Given the description of an element on the screen output the (x, y) to click on. 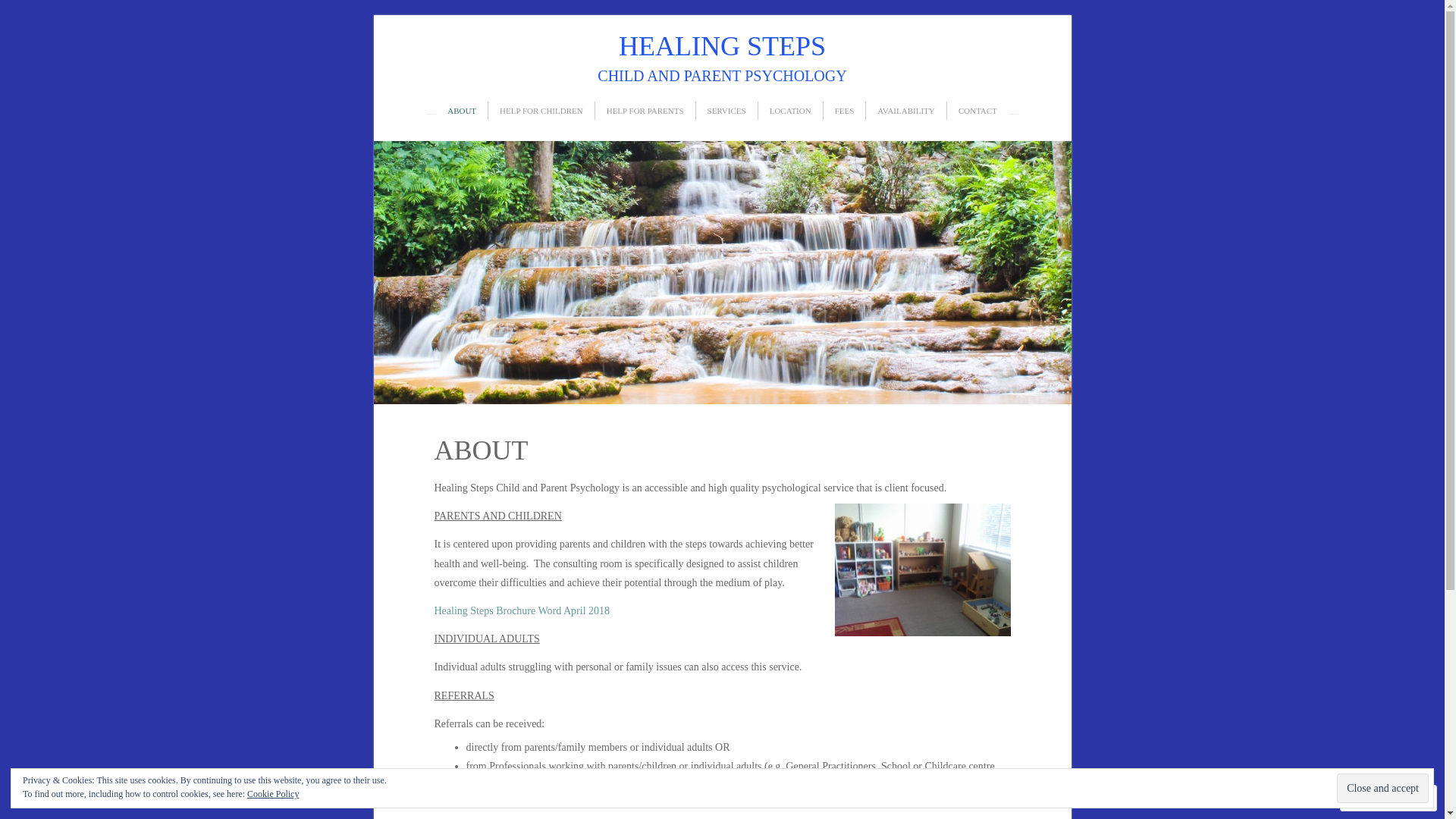
Healing Steps Consulting Room Element type: hover (922, 569)
Skip to content Element type: text (413, 110)
SERVICES Element type: text (726, 110)
LOCATION Element type: text (790, 110)
Cookie Policy Element type: text (272, 793)
AVAILABILITY Element type: text (905, 110)
FEES Element type: text (844, 110)
CONTACT Element type: text (977, 110)
ABOUT Element type: text (461, 110)
HELP FOR PARENTS Element type: text (645, 110)
Close and accept Element type: text (1382, 788)
HELP FOR CHILDREN Element type: text (541, 110)
Follow Element type: text (1374, 797)
Healing Steps Brochure Word April 2018 Element type: text (521, 610)
HEALING STEPS Element type: text (722, 46)
